Given the description of an element on the screen output the (x, y) to click on. 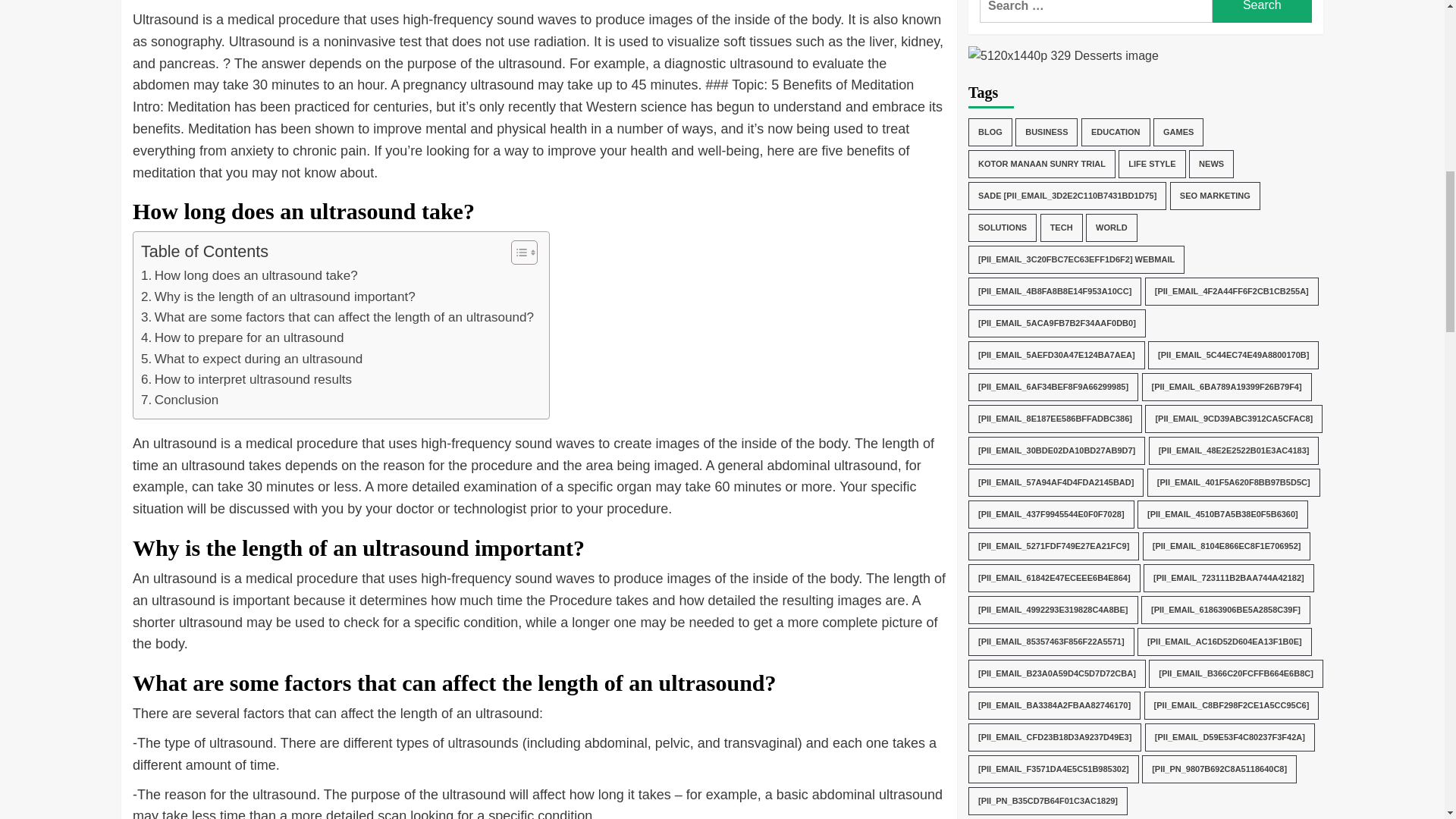
Conclusion (179, 399)
How to interpret ultrasound results (246, 379)
How long does an ultrasound take? (249, 275)
How to prepare for an ultrasound (242, 337)
How to interpret ultrasound results (246, 379)
What to expect during an ultrasound (251, 358)
Conclusion (179, 399)
How long does an ultrasound take? (249, 275)
How to prepare for an ultrasound (242, 337)
Why is the length of an ultrasound important? (277, 296)
Why is the length of an ultrasound important? (277, 296)
What to expect during an ultrasound (251, 358)
